Given the description of an element on the screen output the (x, y) to click on. 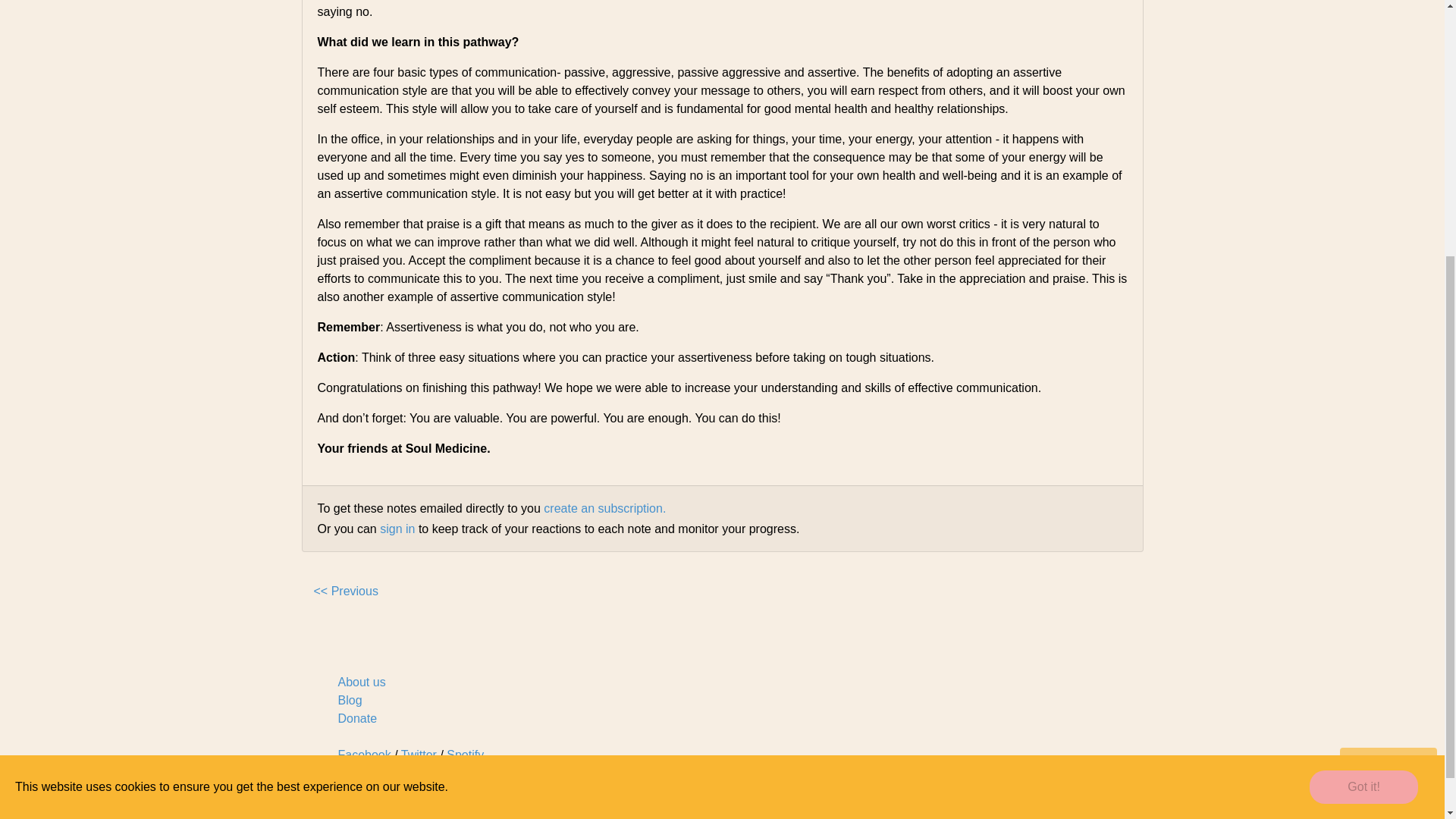
Donate (357, 717)
Privacy Policy (717, 809)
Blog (349, 699)
create an subscription. (604, 508)
LEAVE THIS SITE (1388, 374)
Terms of Service (1097, 809)
Twitter (418, 754)
Got it! (1363, 400)
Spotify (464, 754)
sign in (397, 528)
About us (361, 681)
Facebook (364, 754)
